Given the description of an element on the screen output the (x, y) to click on. 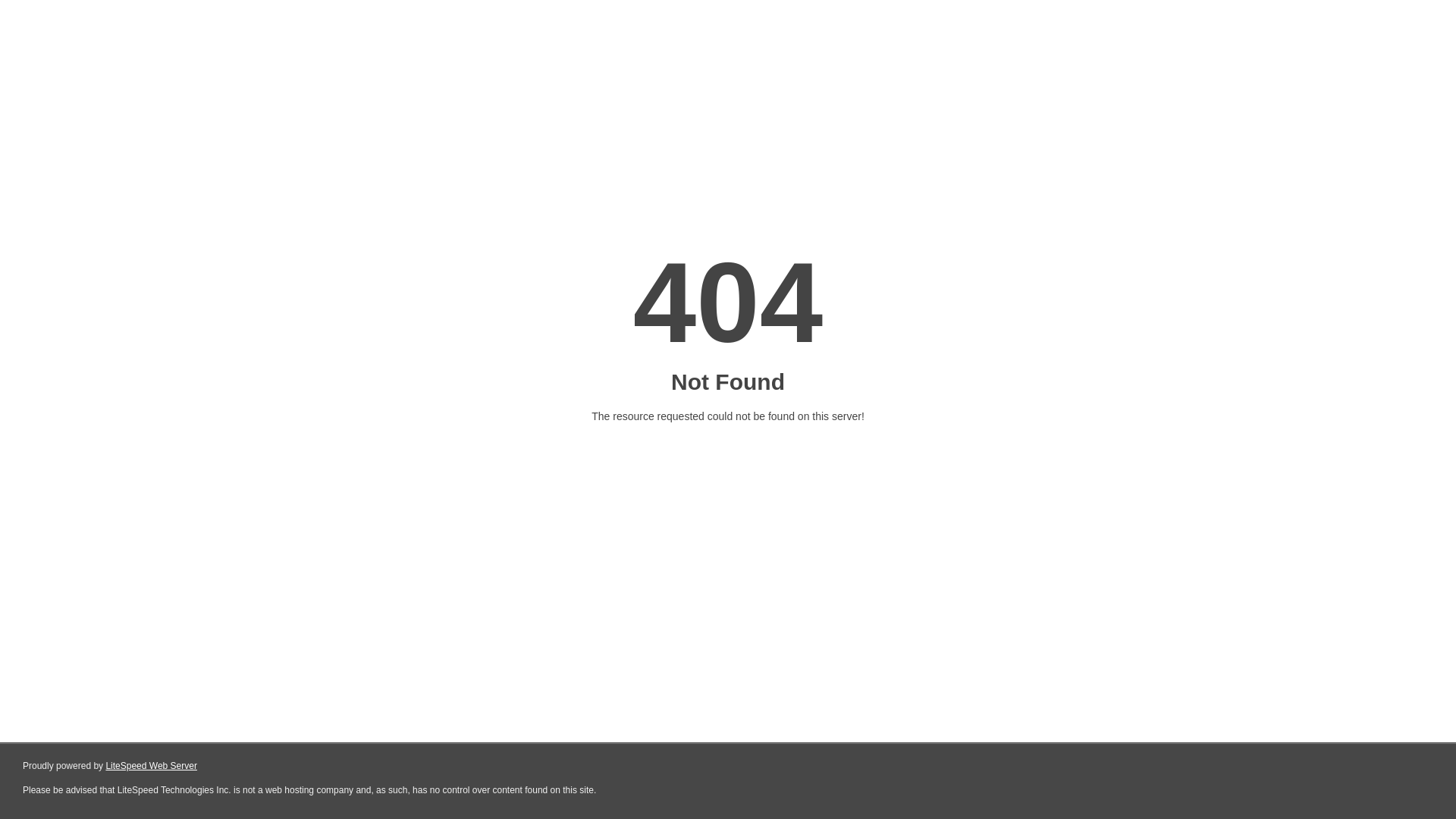
LiteSpeed Web Server Element type: text (151, 765)
